Given the description of an element on the screen output the (x, y) to click on. 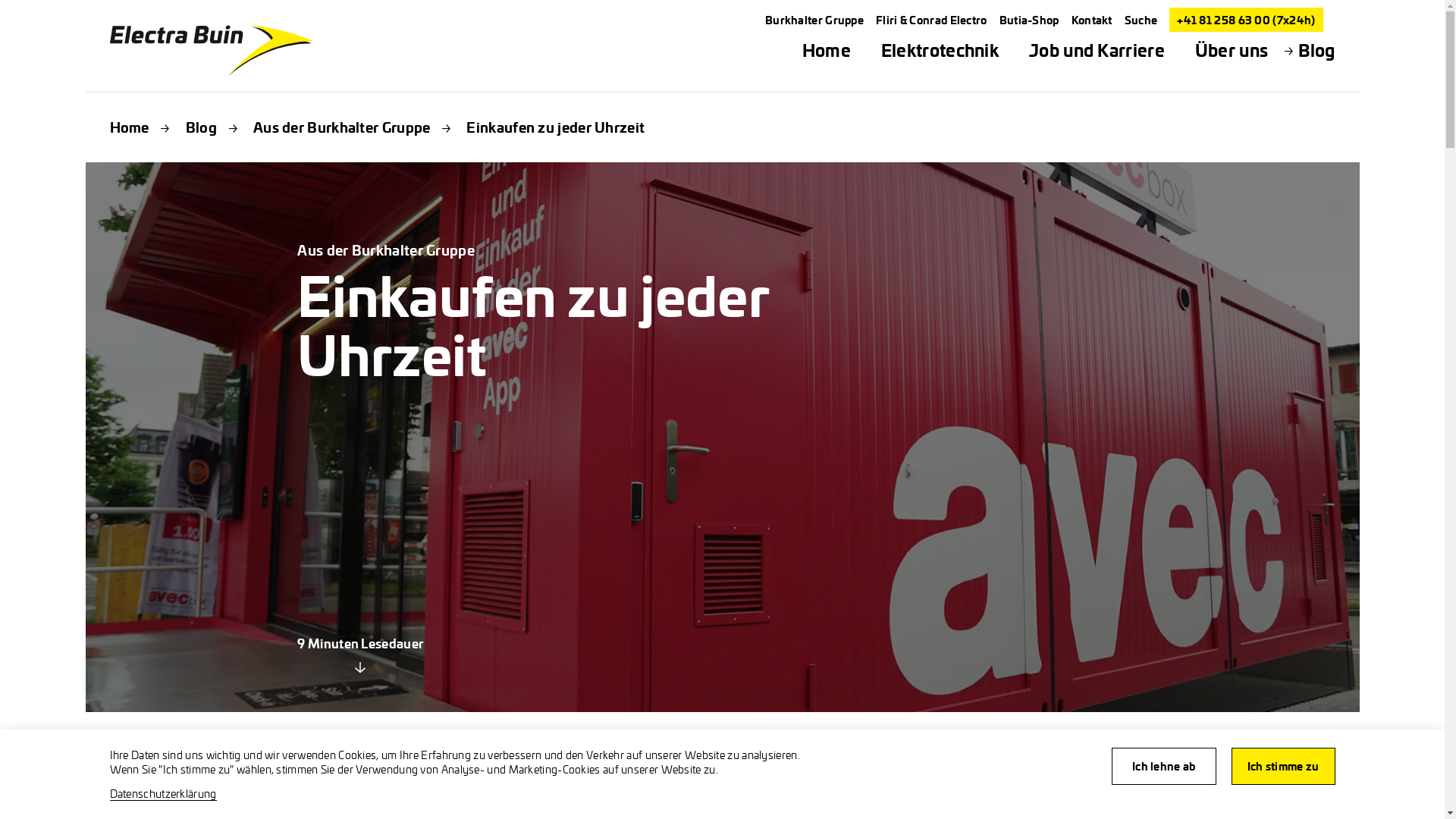
Ich stimme zu Element type: text (1283, 765)
9 Minuten Lesedauer Element type: text (360, 654)
Kontakt Element type: text (1091, 20)
Aus der Burkhalter Gruppe Element type: text (341, 126)
Burkhalter Gruppe Element type: text (814, 20)
Fliri & Conrad Electro Element type: text (931, 20)
Home Element type: text (128, 126)
+41 81 258 63 00 (7x24h) Element type: text (1245, 19)
Butia-Shop Element type: text (1029, 20)
Elektrotechnik Element type: text (939, 49)
Blog Element type: text (1316, 49)
Suche Element type: text (1140, 20)
Ich lehne ab Element type: text (1163, 765)
Home Element type: text (826, 49)
Blog Element type: text (200, 126)
Job und Karriere Element type: text (1096, 49)
